Given the description of an element on the screen output the (x, y) to click on. 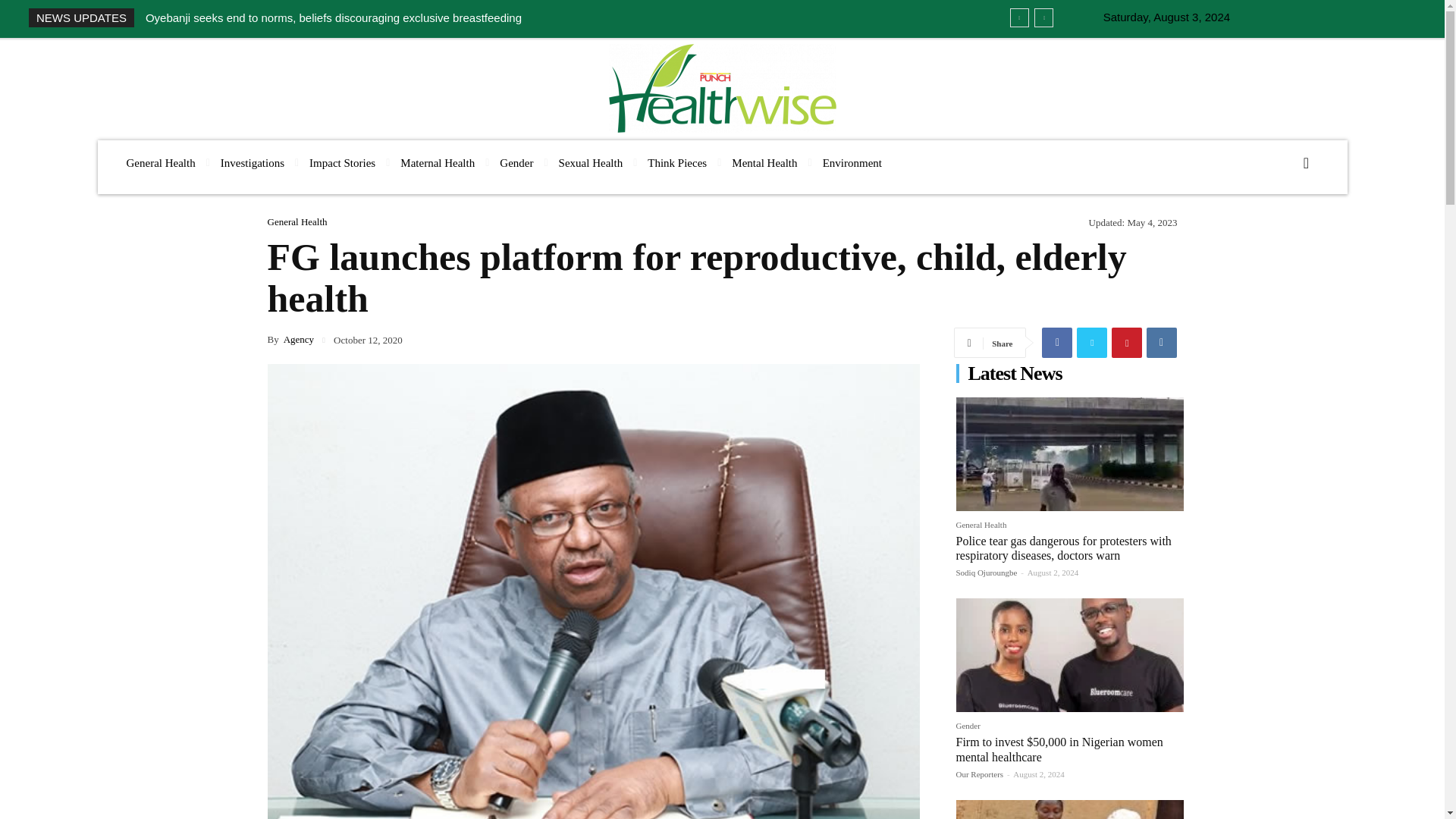
General Health (160, 163)
Investigations (252, 163)
